Given the description of an element on the screen output the (x, y) to click on. 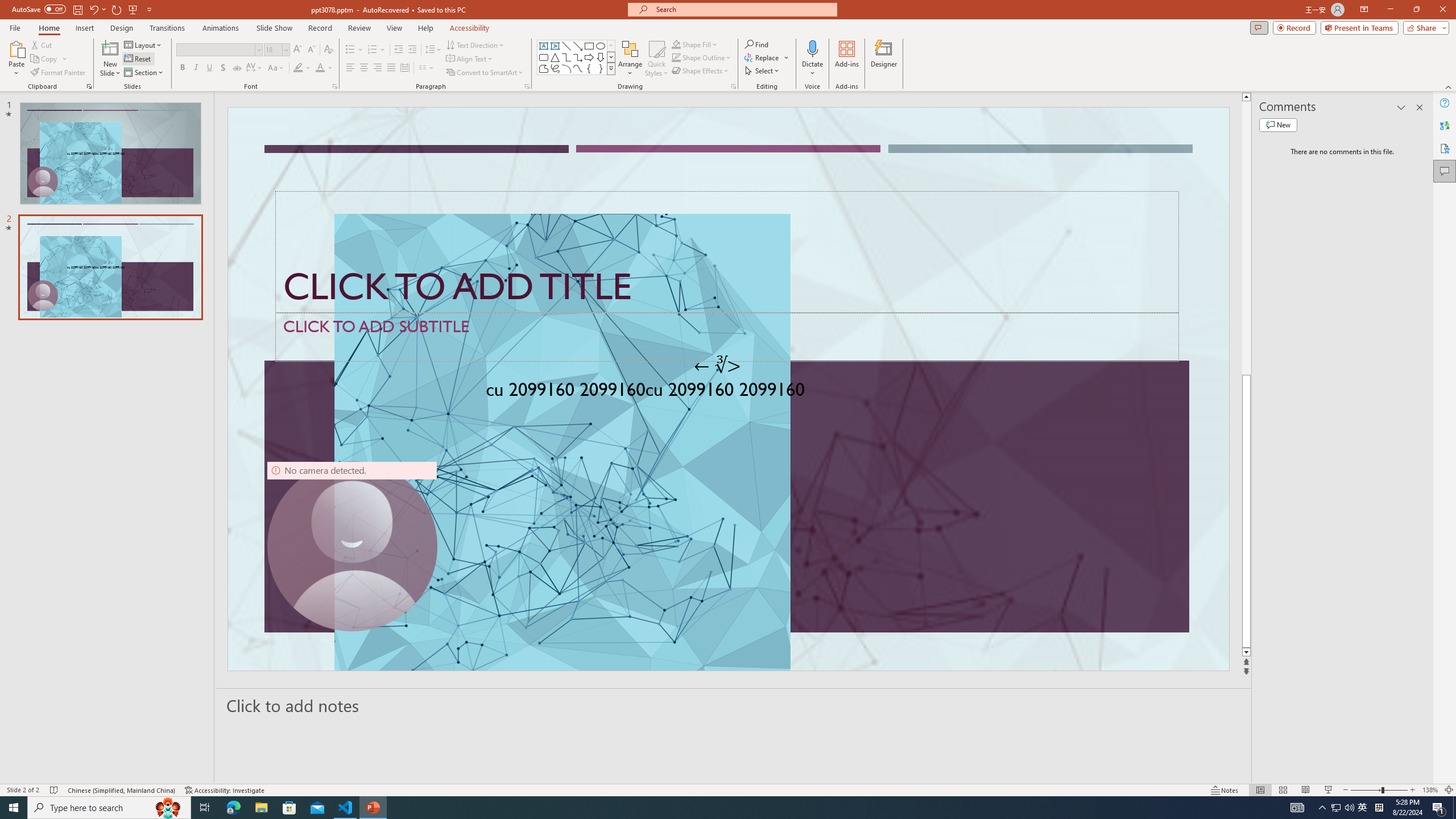
An abstract genetic concept (728, 388)
TextBox 61 (726, 391)
TextBox 7 (717, 364)
